Given the description of an element on the screen output the (x, y) to click on. 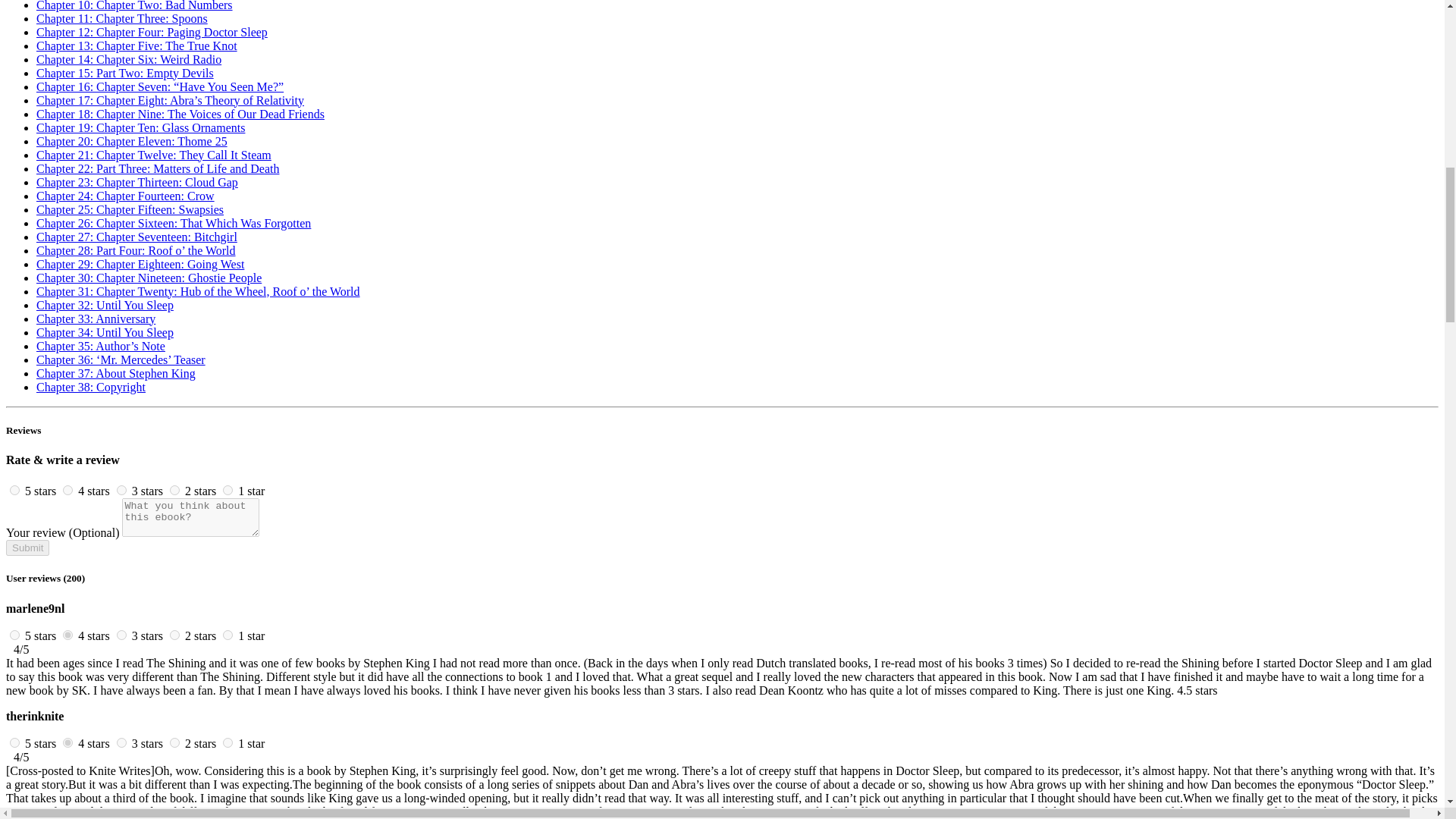
Chapter 10: Chapter Two: Bad Numbers (134, 5)
3 (121, 742)
4 (67, 490)
Chapter 13: Chapter Five: The True Knot (136, 45)
text (93, 490)
text (40, 743)
text (147, 490)
2 (174, 634)
3 (121, 634)
Chapter 11: Chapter Three: Spoons (122, 18)
2 (174, 490)
Chapter 14: Chapter Six: Weird Radio (128, 59)
text (199, 743)
1 (227, 634)
5 (15, 634)
